Given the description of an element on the screen output the (x, y) to click on. 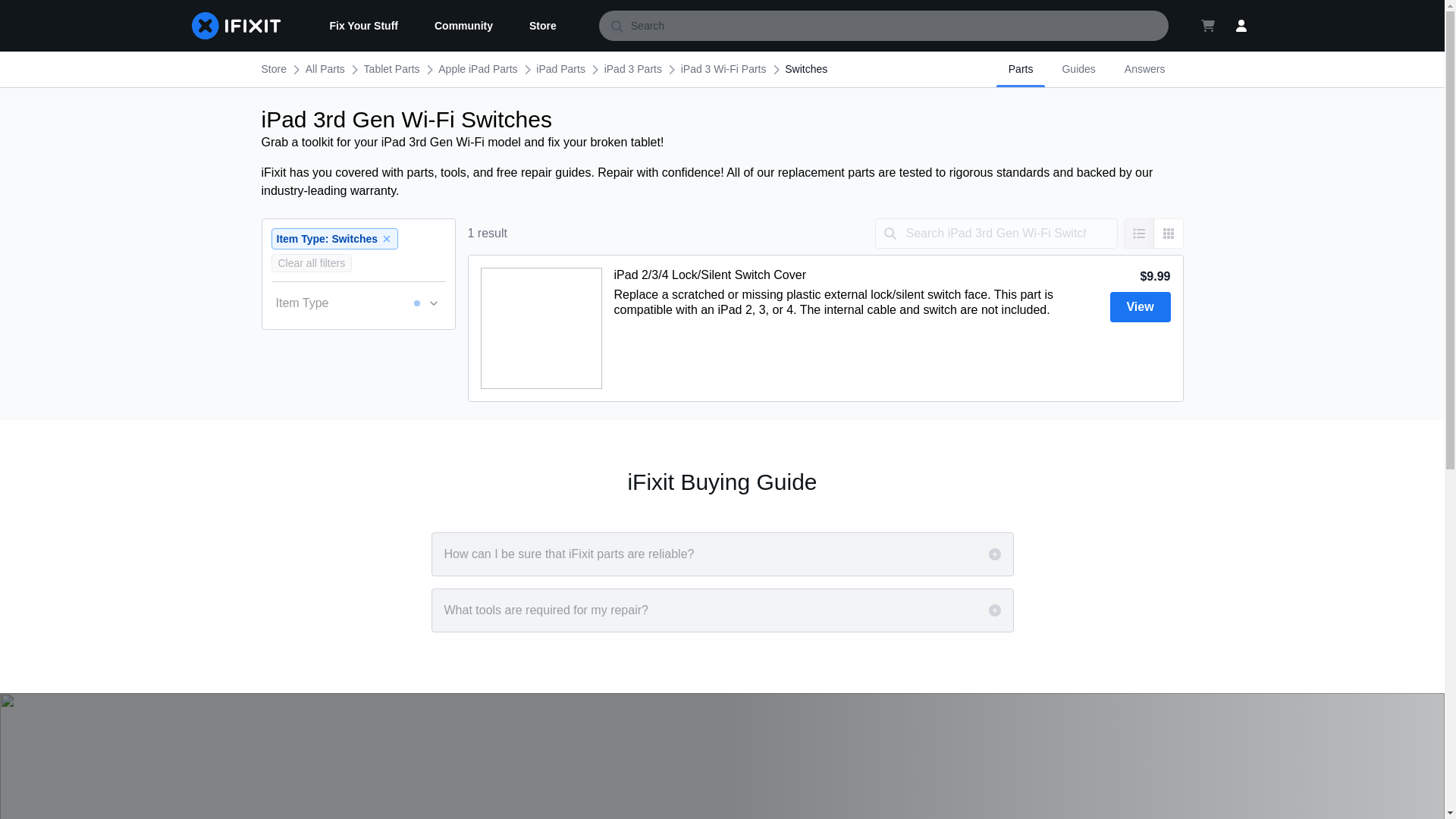
iPad 3 Parts (633, 68)
Apple iPad Parts (477, 68)
Fix Your Stuff (362, 25)
iPad Parts (560, 68)
Item Type (357, 303)
All Parts (325, 68)
Community (463, 25)
iPad 3 Wi-Fi Parts (724, 68)
Store (272, 68)
Clear all filters (311, 262)
Tablet Parts (392, 68)
Guides (1077, 68)
Store (543, 25)
Answers (1144, 68)
